Given the description of an element on the screen output the (x, y) to click on. 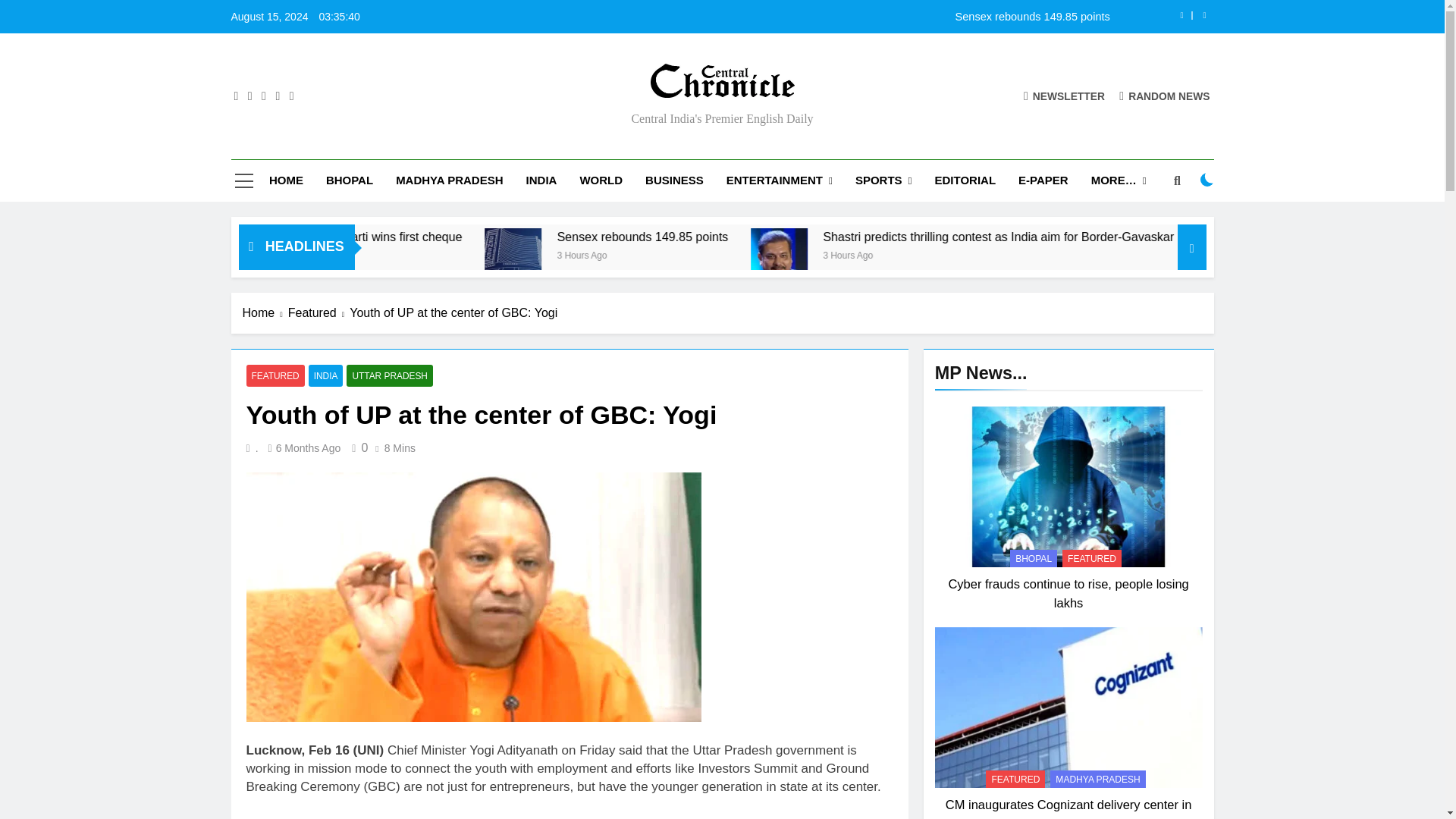
SPORTS (883, 180)
HOME (285, 179)
KBC 16: 21-Year-old Vaishnavi Bharti wins first cheque (483, 237)
Sensex rebounds 149.85 points (675, 256)
ENTERTAINMENT (779, 180)
NEWSLETTER (1064, 95)
BHOPAL (349, 179)
on (1206, 179)
Sensex rebounds 149.85 points (817, 16)
